Given the description of an element on the screen output the (x, y) to click on. 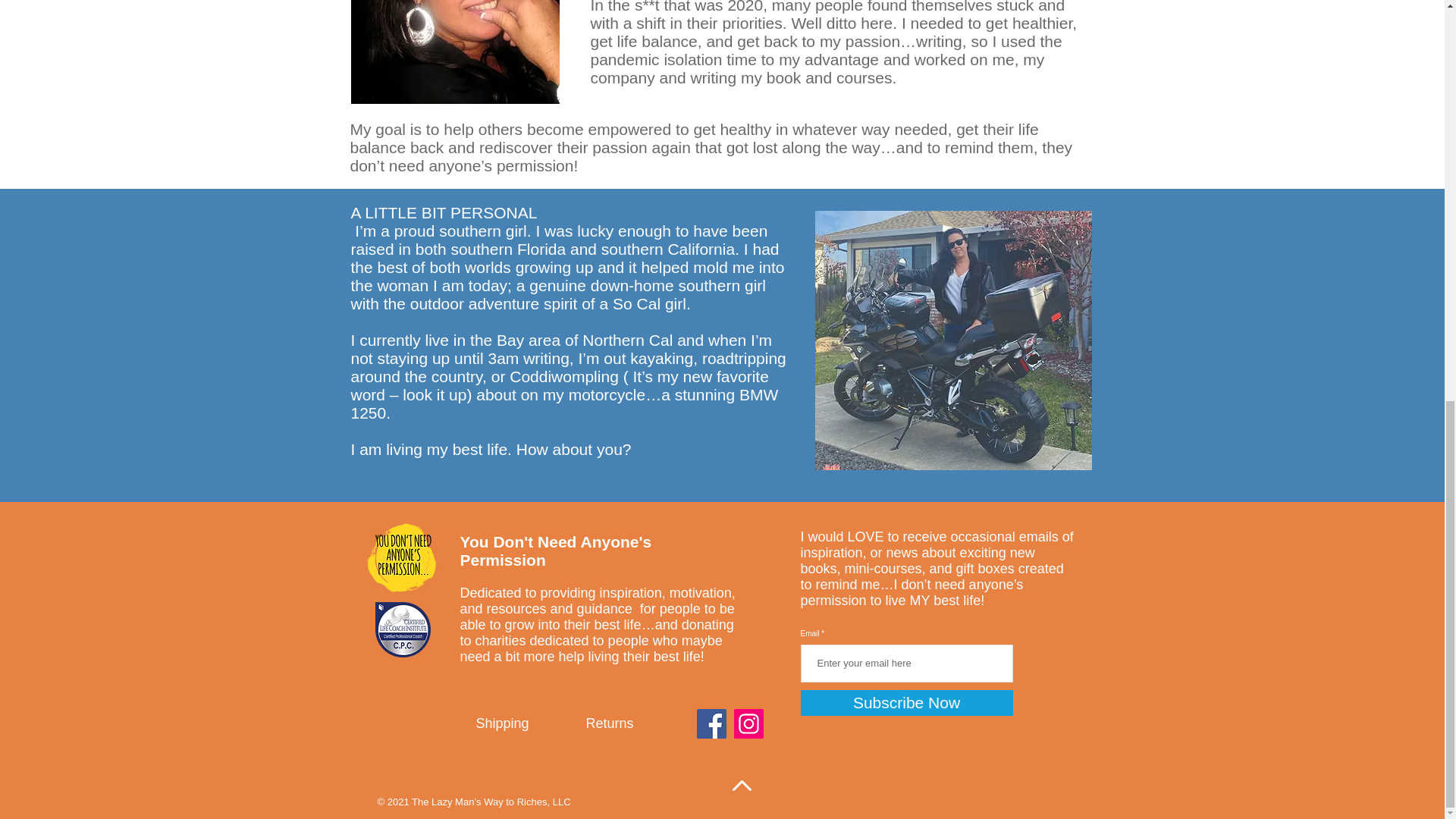
Returns (609, 723)
Shipping  (504, 723)
Subscribe Now (906, 702)
